Given the description of an element on the screen output the (x, y) to click on. 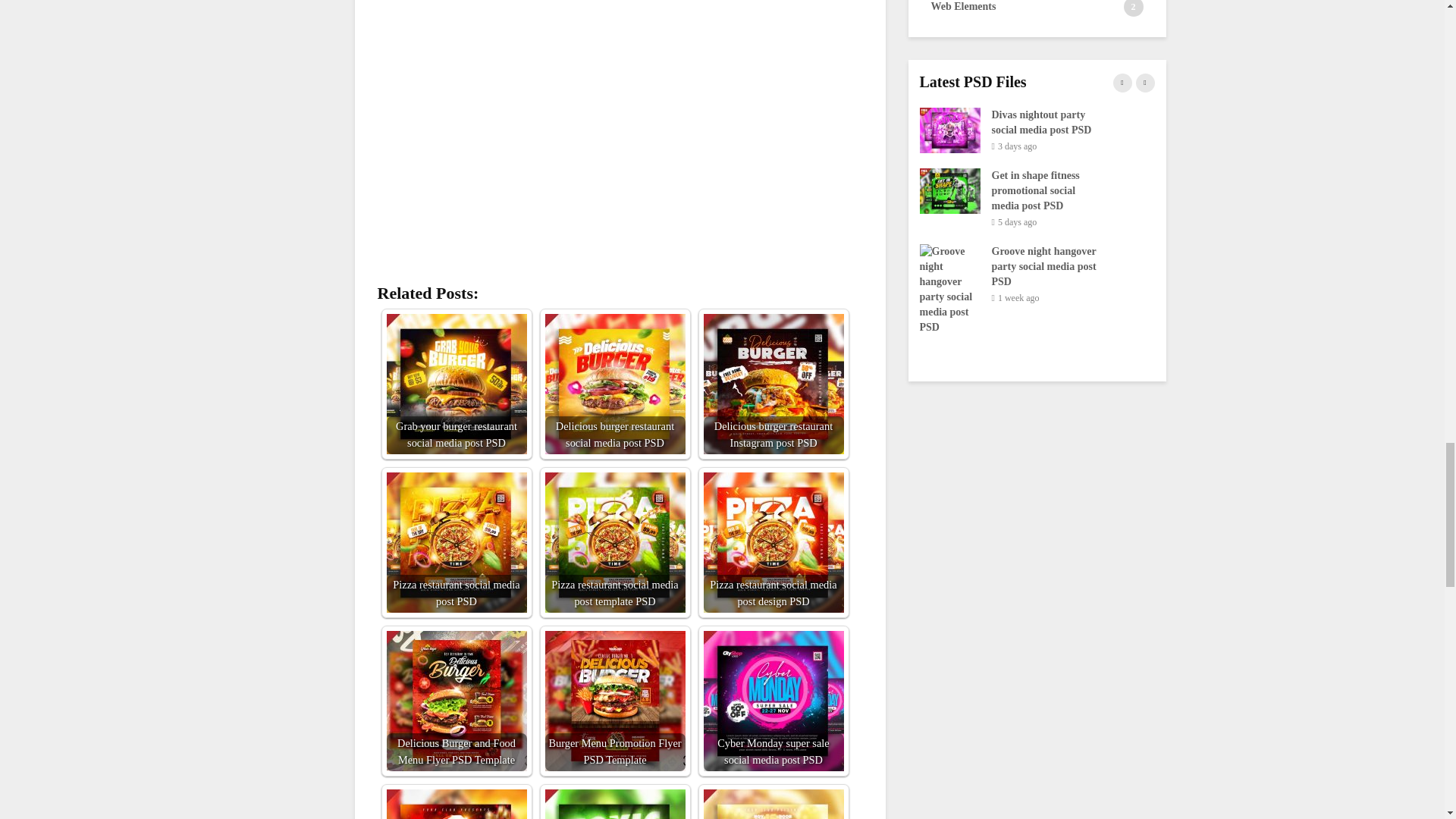
Pizza restaurant social media post design PSD (773, 542)
Pizza restaurant social media post template PSD (614, 542)
Burger Menu Promotion Flyer PSD Template (614, 700)
Toxic friday party social media post PSD (614, 804)
Cyber Monday super sale social media post PSD (773, 700)
Grab your burger restaurant social media post PSD (457, 383)
Christmas night party social media post PSD (457, 804)
Delicious burger restaurant social media post PSD (614, 383)
Chillout ladies night social media post PSD (773, 804)
Pizza restaurant social media post PSD (457, 542)
